Given the description of an element on the screen output the (x, y) to click on. 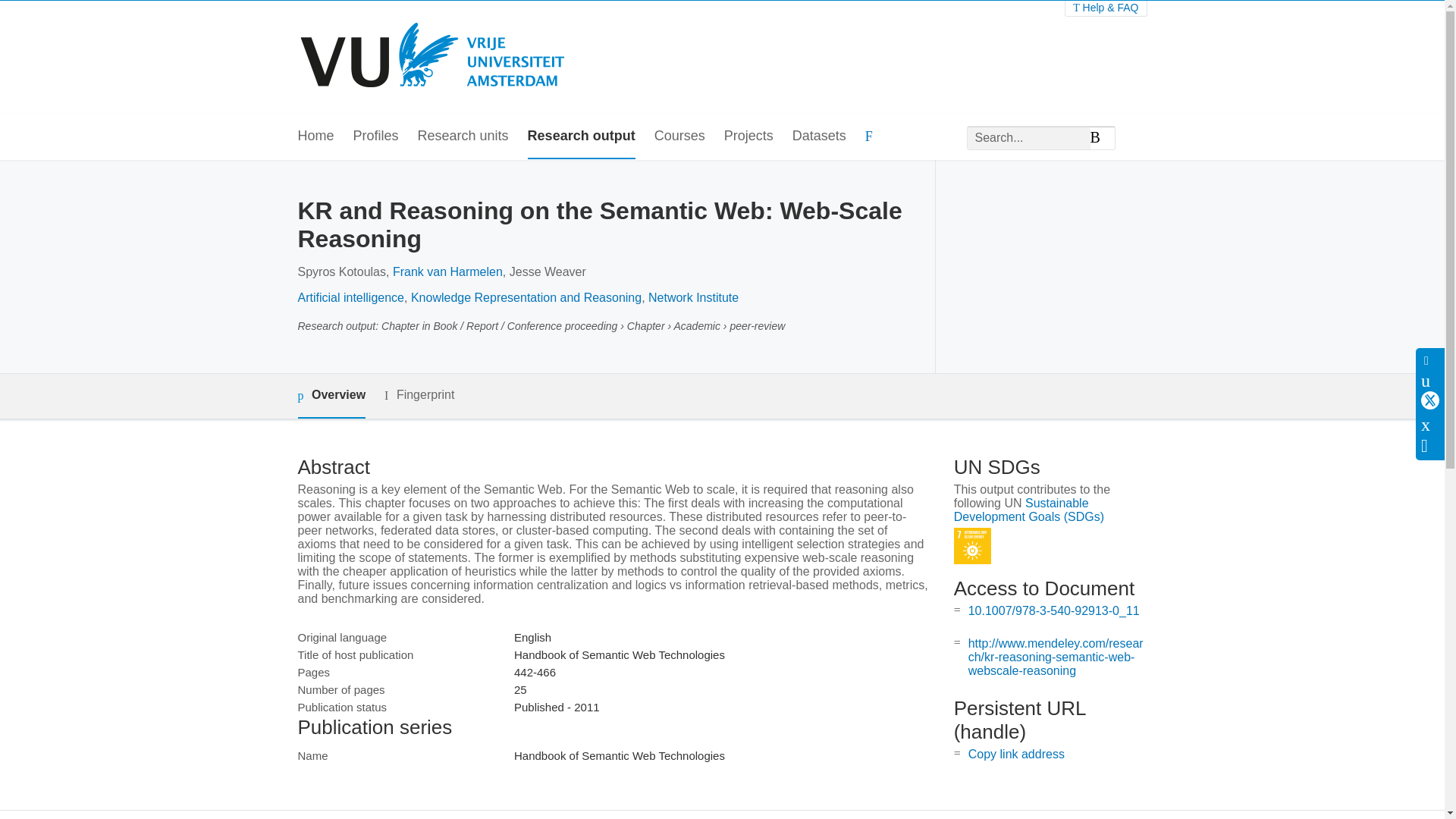
Fingerprint (419, 394)
Datasets (818, 136)
Overview (331, 395)
Network Institute (692, 297)
Artificial intelligence (350, 297)
Research units (462, 136)
SDG 7 - Affordable and Clean Energy (972, 546)
Profiles (375, 136)
Research output (580, 136)
